Given the description of an element on the screen output the (x, y) to click on. 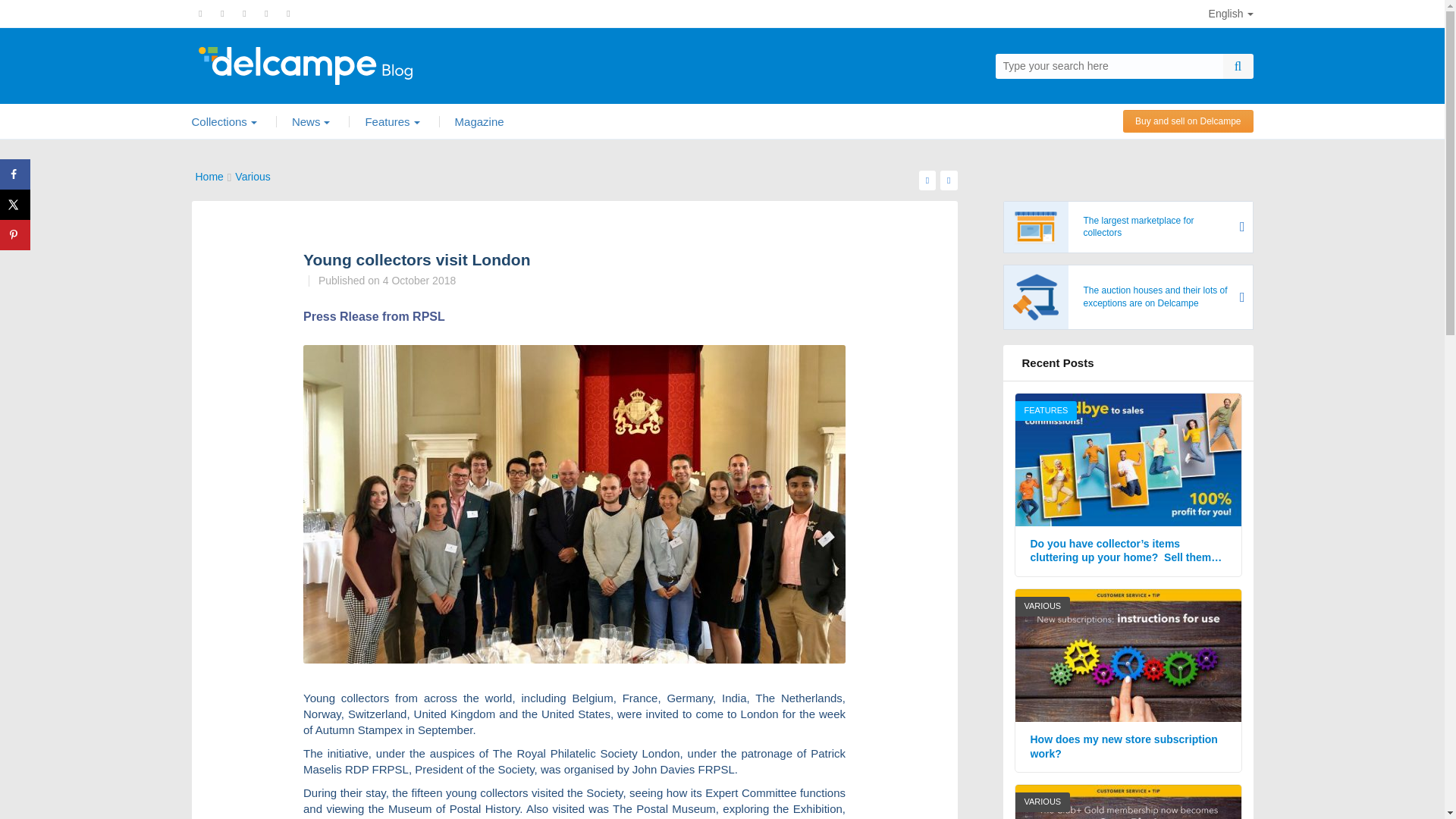
Search (1237, 65)
Delcampe Blog (338, 65)
Search (1237, 65)
Collections (223, 120)
English (1230, 13)
English (1230, 13)
Collections (223, 120)
